Given the description of an element on the screen output the (x, y) to click on. 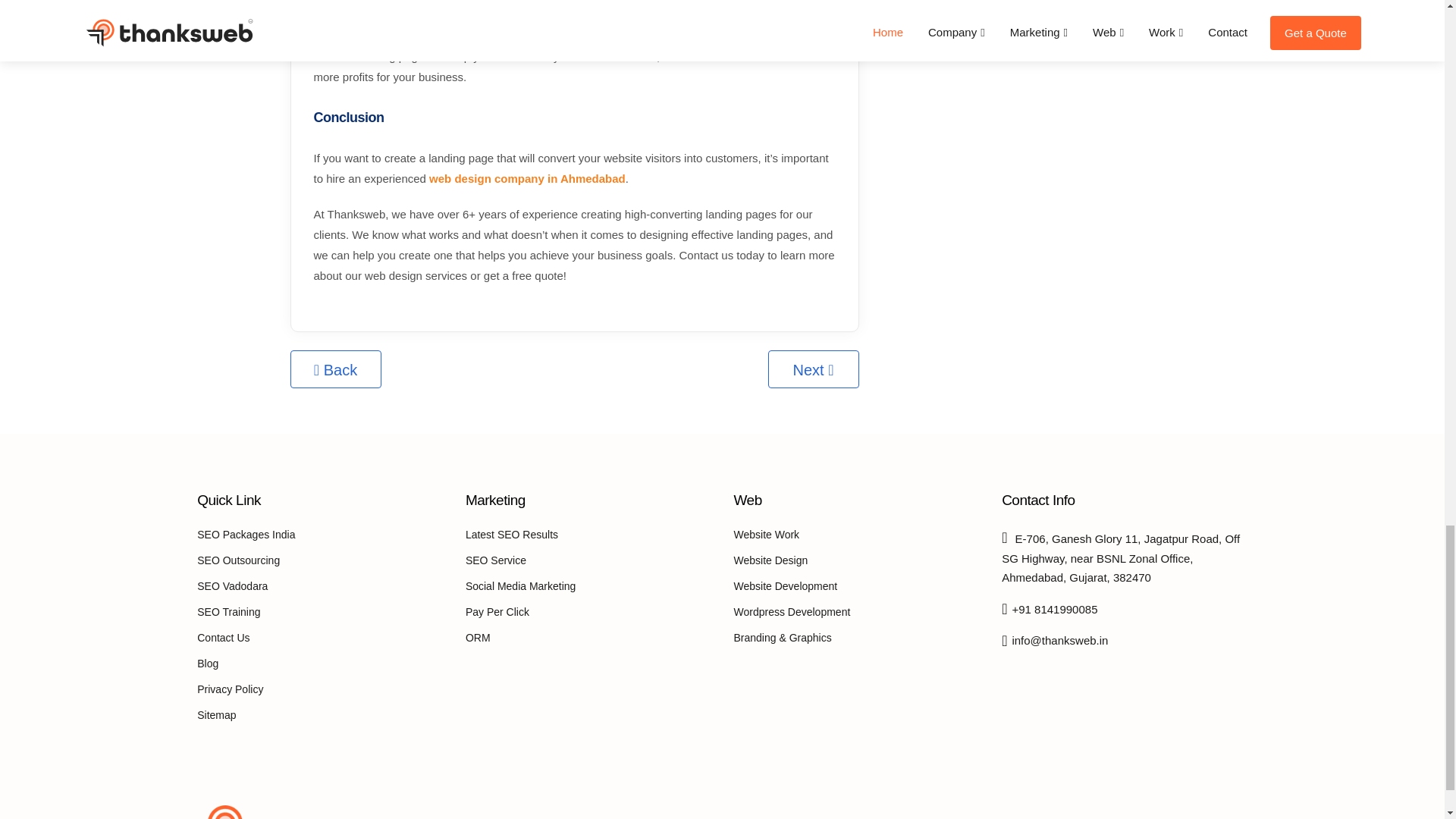
Next (813, 369)
Back (334, 369)
web design company in Ahmedabad (527, 178)
